Given the description of an element on the screen output the (x, y) to click on. 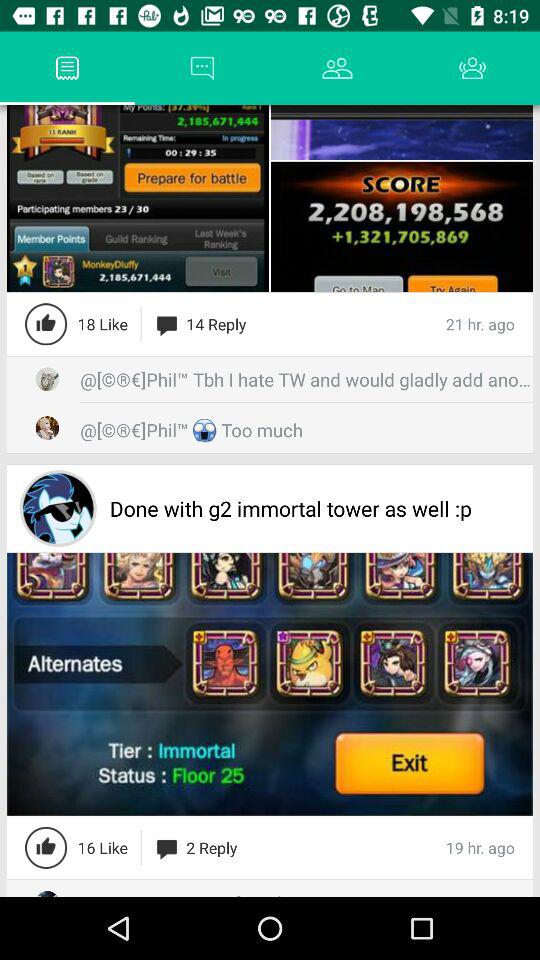
turn on app next to the forum app (36, 68)
